Given the description of an element on the screen output the (x, y) to click on. 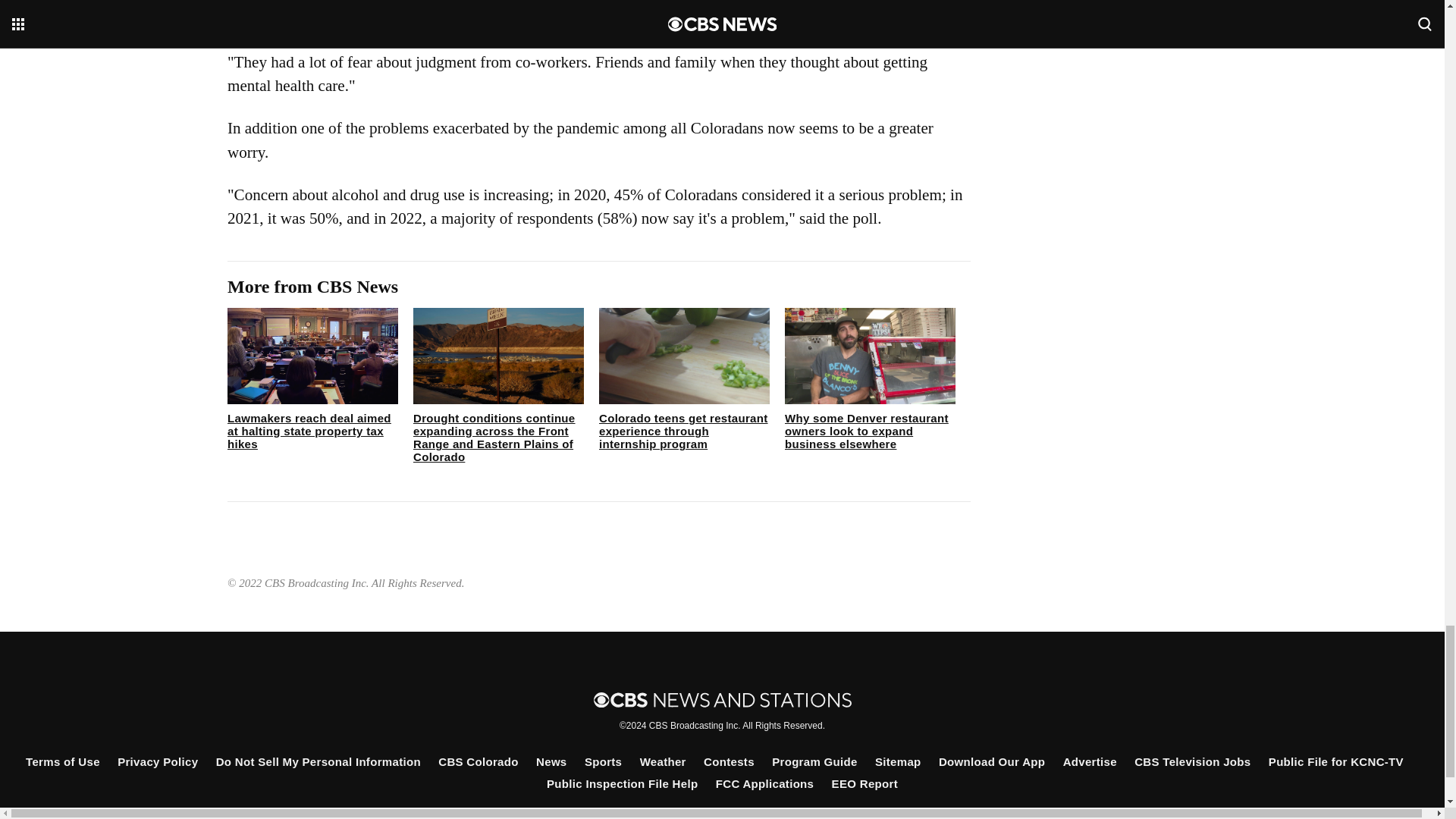
instagram (745, 816)
facebook (643, 816)
twitter (694, 816)
youtube (797, 816)
